Given the description of an element on the screen output the (x, y) to click on. 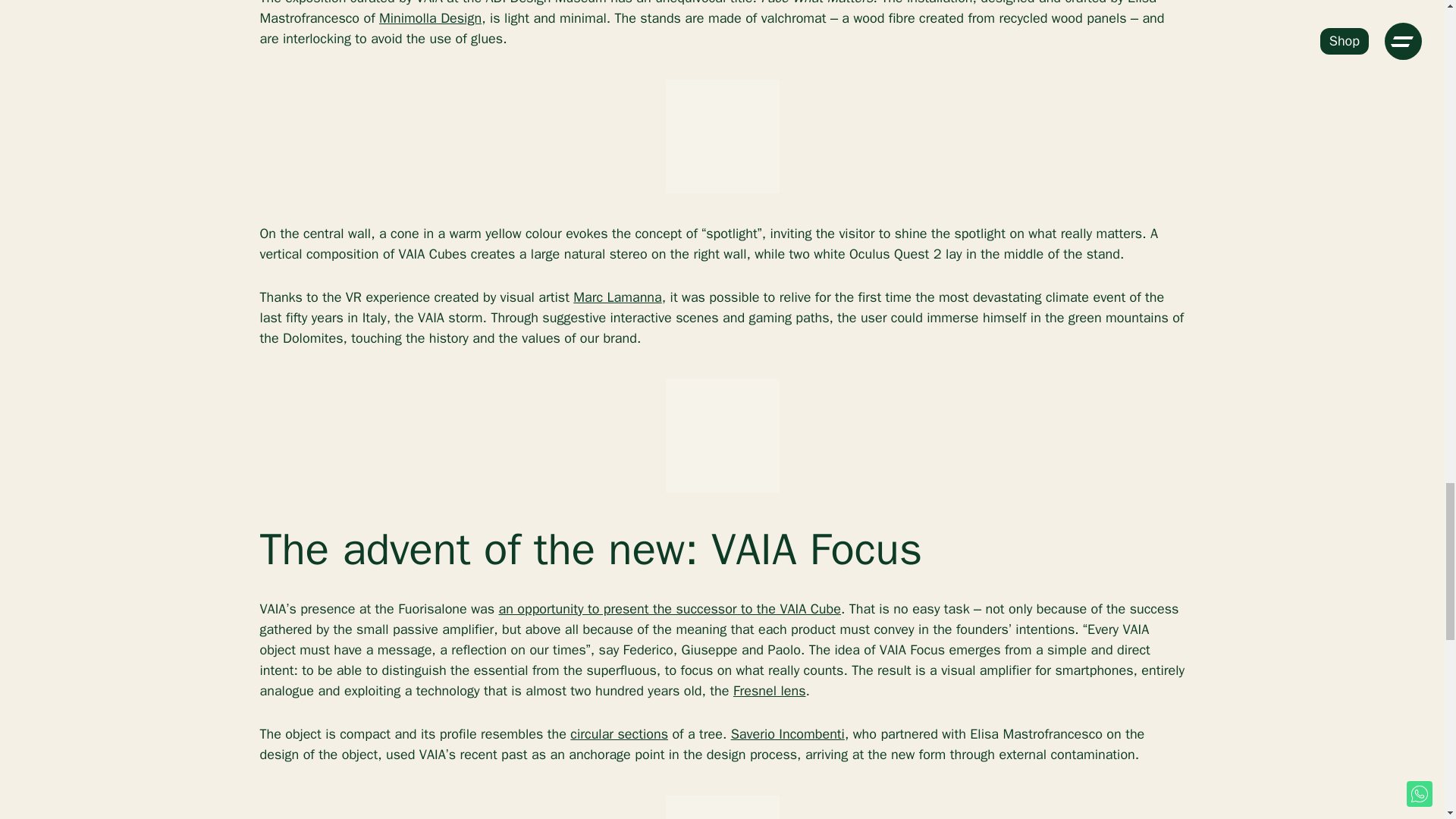
Minimolla Design (429, 17)
